Given the description of an element on the screen output the (x, y) to click on. 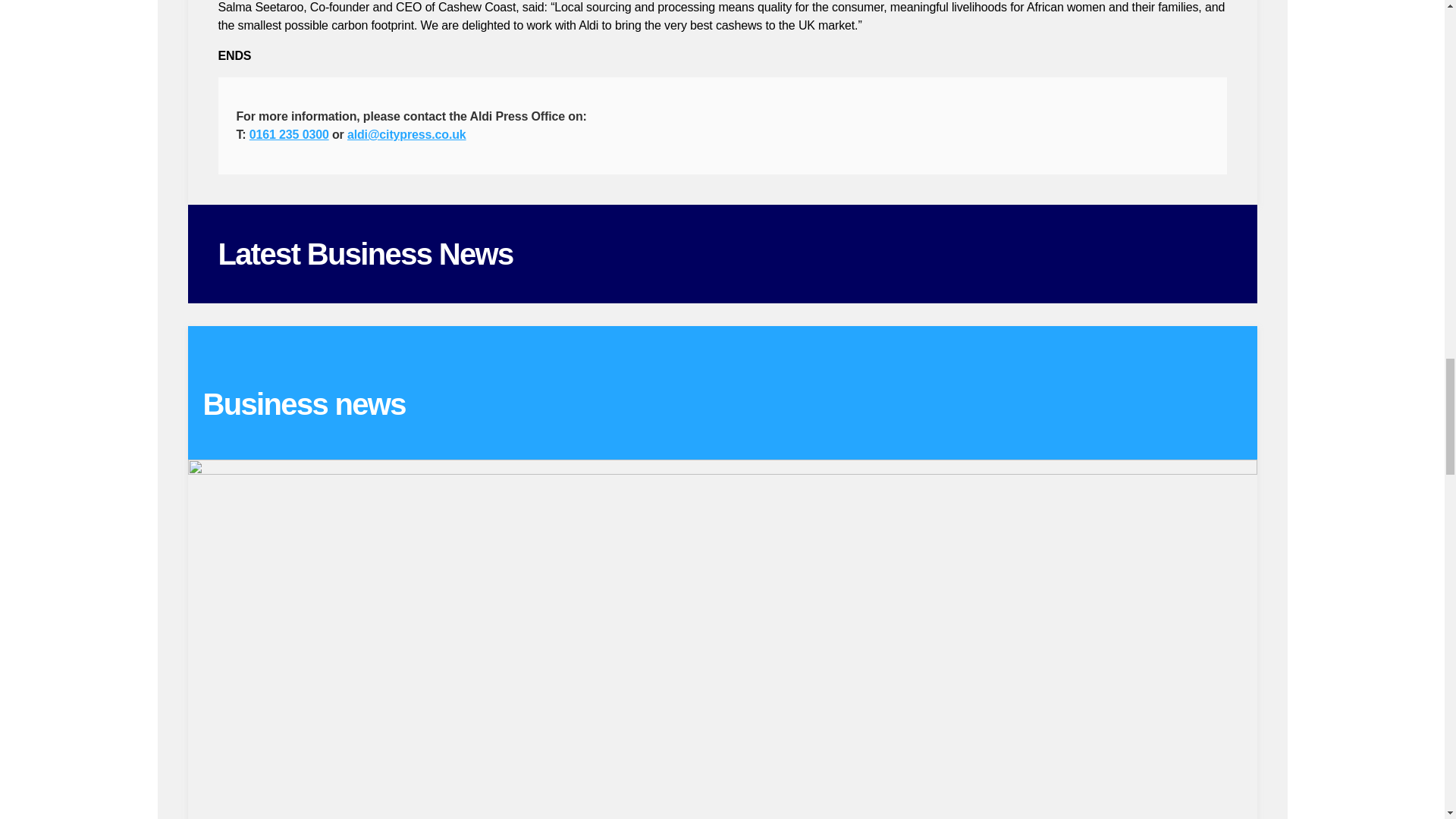
0161 235 0300 (288, 133)
